Given the description of an element on the screen output the (x, y) to click on. 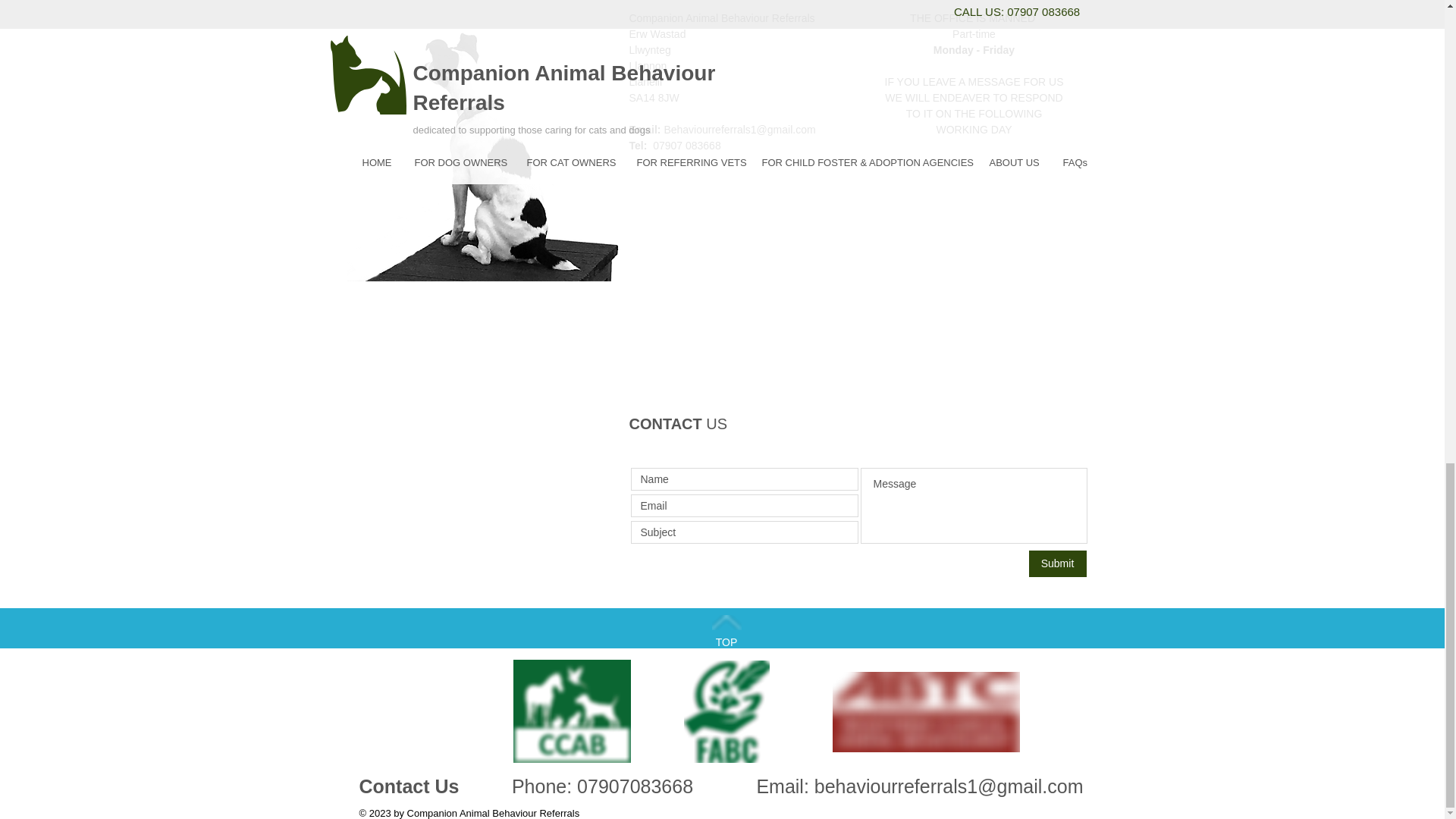
Submit (1056, 563)
TOP (727, 642)
